Given the description of an element on the screen output the (x, y) to click on. 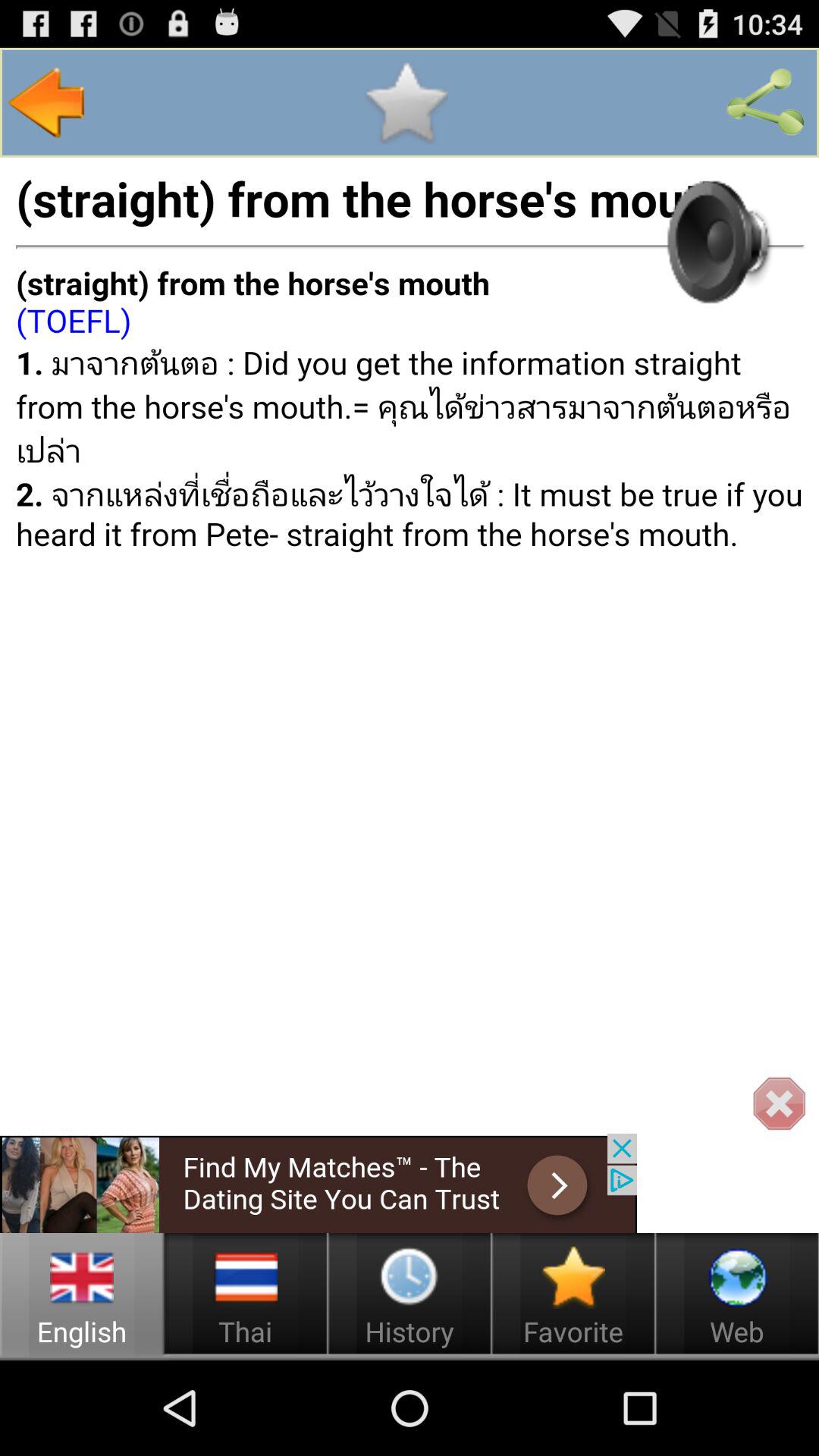
go to share (765, 102)
